Given the description of an element on the screen output the (x, y) to click on. 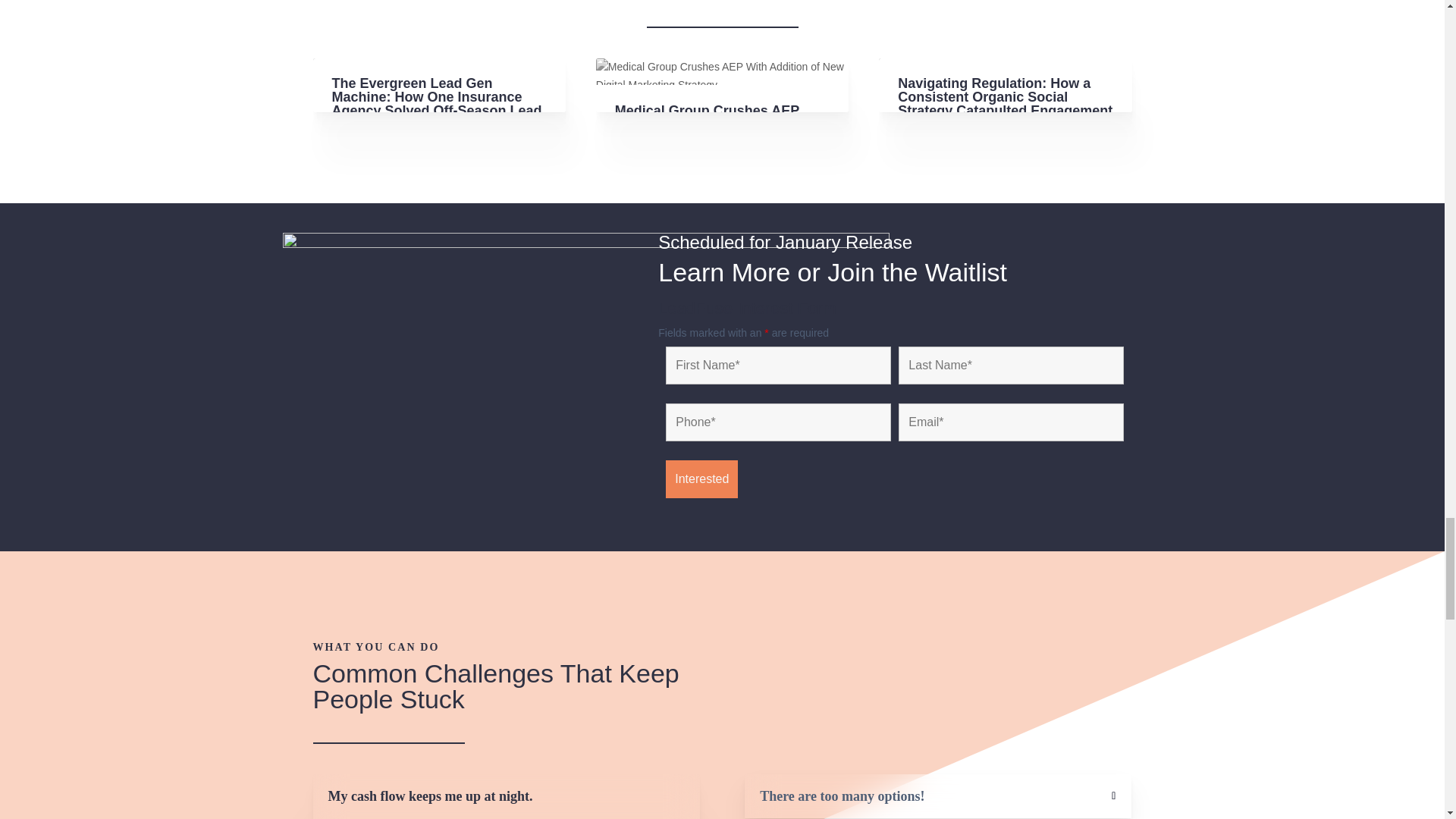
Interested (701, 478)
Interested (701, 478)
